Given the description of an element on the screen output the (x, y) to click on. 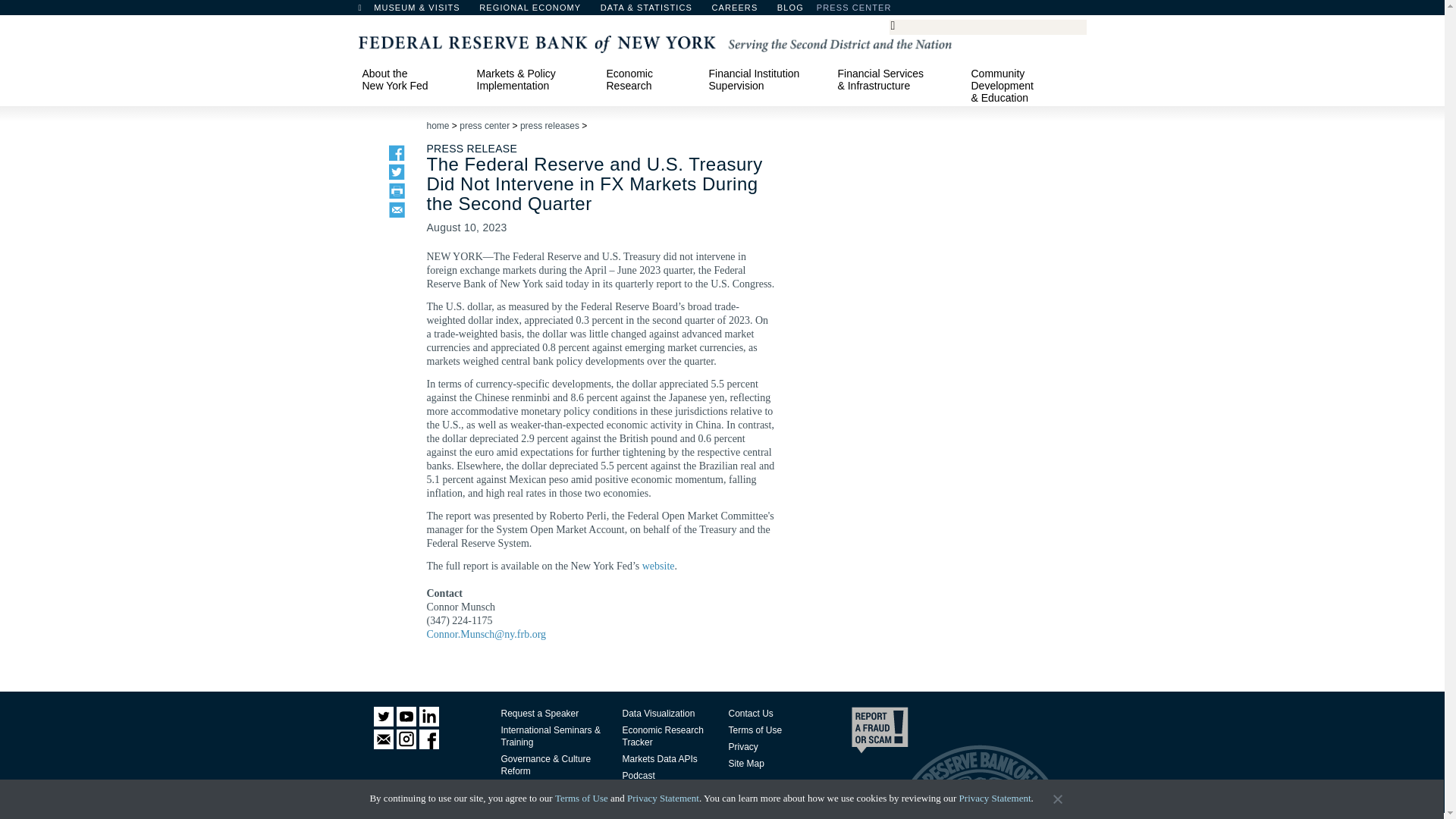
About the New York Fed (411, 79)
Liberty Street Economics Blog (830, 11)
Press Center (861, 11)
Federal Reserve Bank of New York (654, 42)
Regional Economy (537, 11)
REGIONAL ECONOMY (537, 11)
Home (367, 11)
BLOG (830, 11)
Search Box (985, 26)
Careers (742, 11)
